Given the description of an element on the screen output the (x, y) to click on. 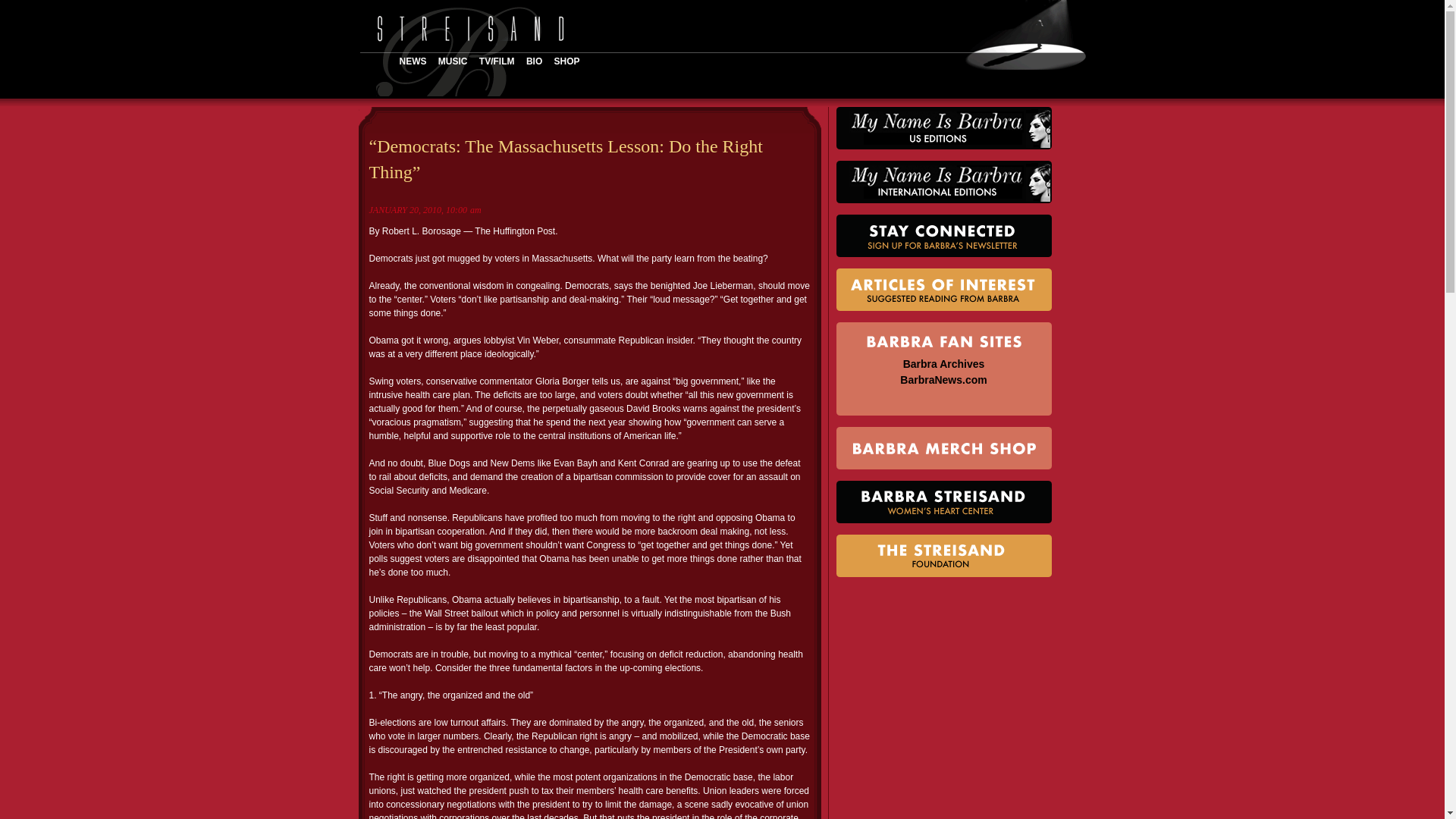
SHOP (571, 61)
BarbraNews.com (943, 379)
NEWS (416, 61)
Barbra Archives (943, 363)
BIO (538, 61)
MUSIC (457, 61)
